Given the description of an element on the screen output the (x, y) to click on. 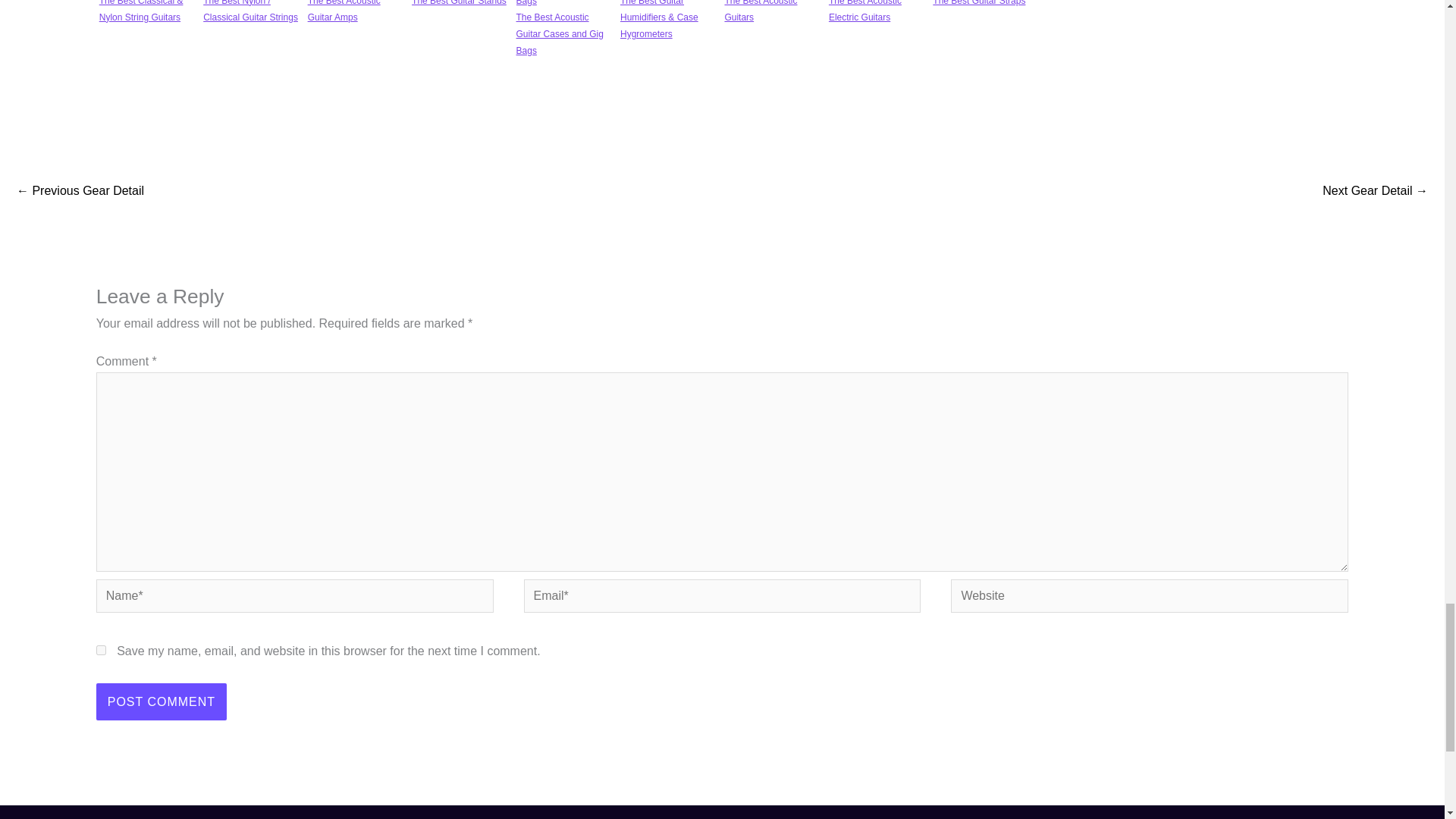
yes (101, 650)
Boss RC-600 Loop Station Looper Pedal (80, 192)
Post Comment (161, 702)
